Given the description of an element on the screen output the (x, y) to click on. 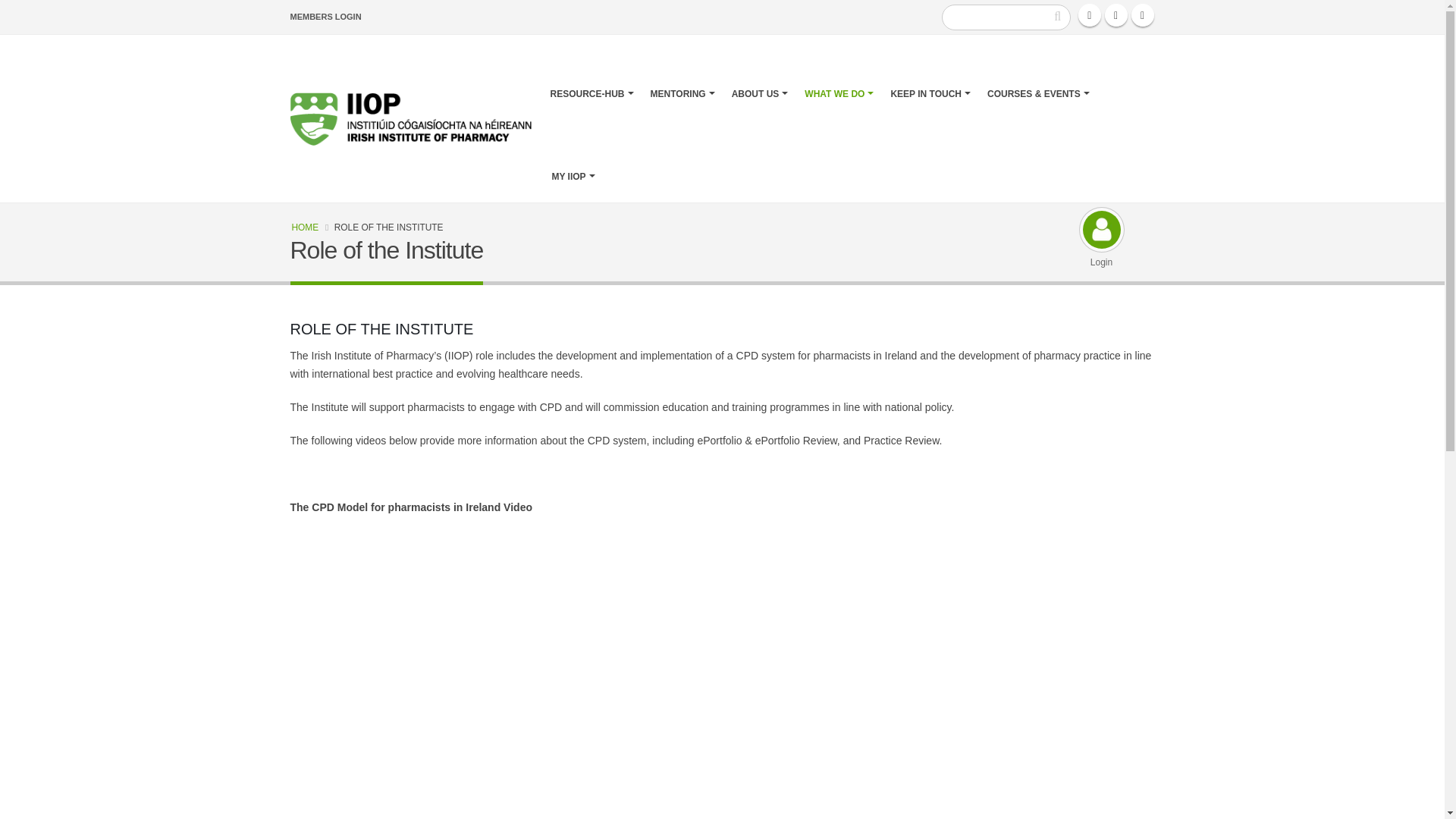
MEMBERS LOGIN (325, 16)
RESOURCE-HUB (592, 76)
YouTube video player (501, 650)
Facebook (1089, 15)
Enter the terms you wish to search for. (1006, 17)
Linkedin (1142, 15)
MENTORING (682, 76)
Twitter (1115, 15)
WHAT WE DO (838, 76)
Search (1057, 16)
